Given the description of an element on the screen output the (x, y) to click on. 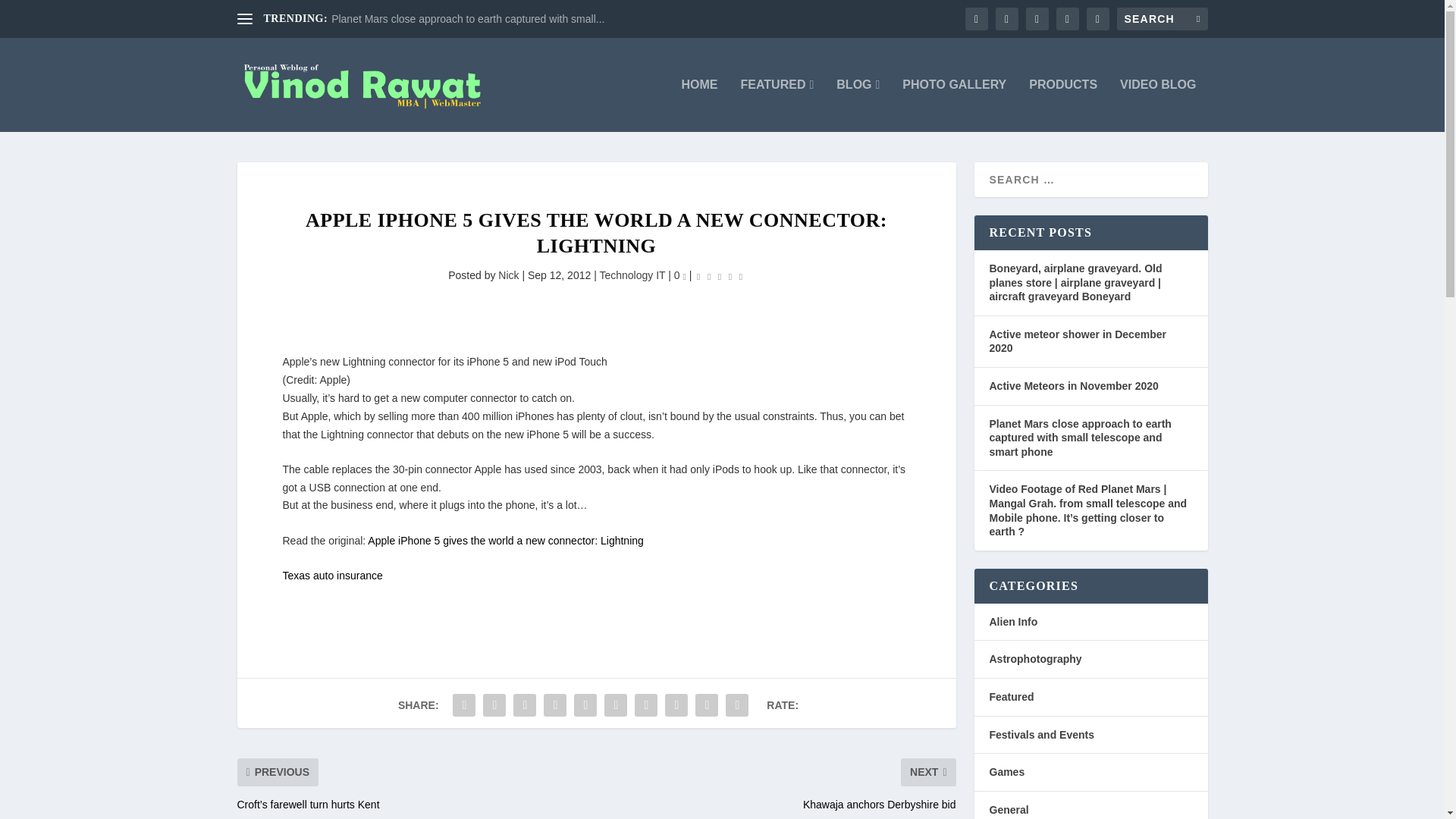
Posts by Nick (507, 275)
Planet Mars close approach to earth captured with small... (467, 19)
Search for: (1161, 18)
FEATURED (777, 104)
